Given the description of an element on the screen output the (x, y) to click on. 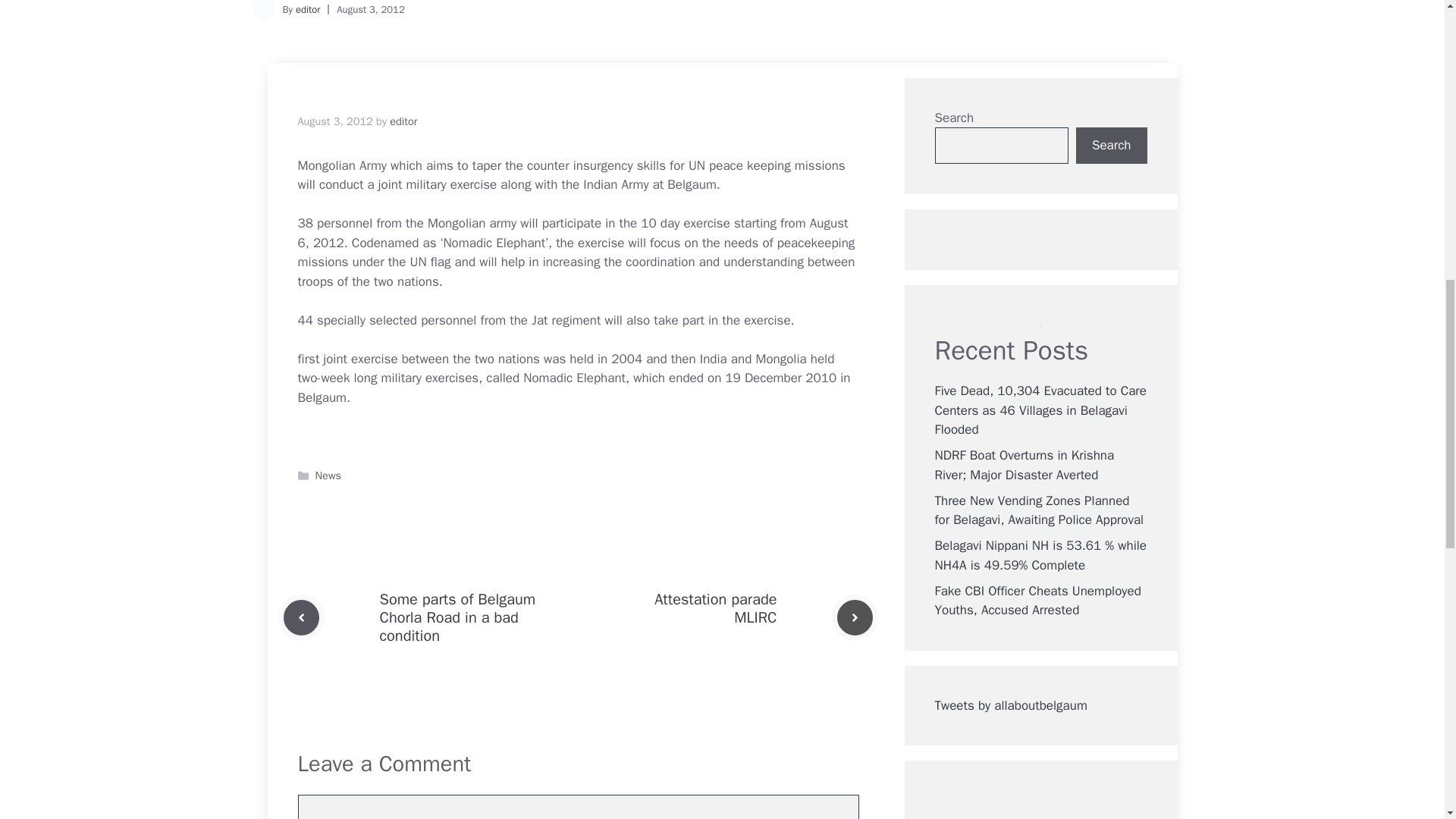
Some parts of Belgaum Chorla Road in a bad condition (456, 617)
editor (403, 120)
News (327, 475)
Tweets by allaboutbelgaum (1010, 705)
NDRF Boat Overturns in Krishna River; Major Disaster Averted (1023, 465)
Search (1111, 145)
View all posts by editor (403, 120)
Fake CBI Officer Cheats Unemployed Youths, Accused Arrested (1037, 601)
